Given the description of an element on the screen output the (x, y) to click on. 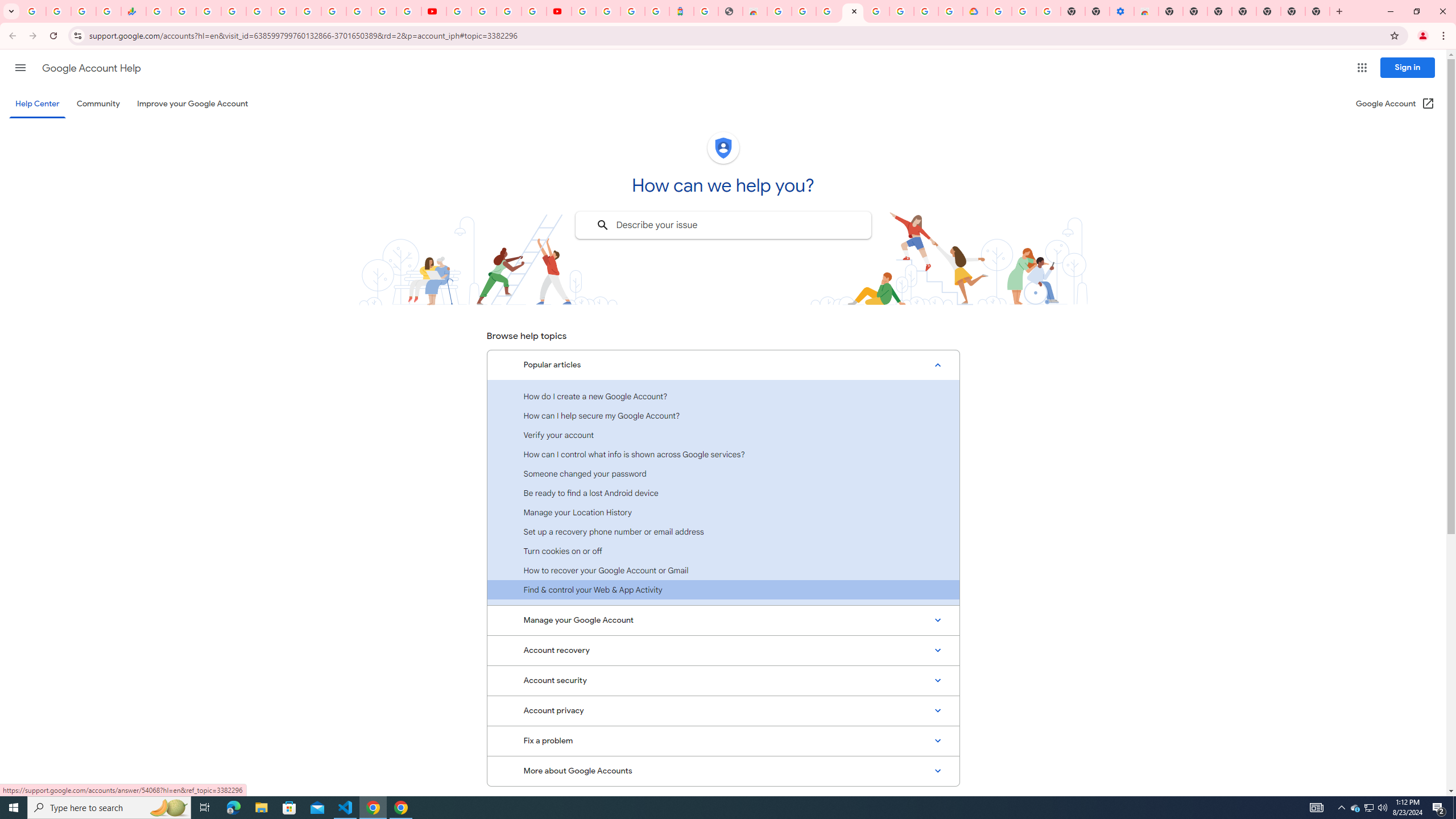
Manage your Google Account (722, 620)
YouTube (433, 11)
Settings - Accessibility (1121, 11)
Content Creator Programs & Opportunities - YouTube Creators (558, 11)
Google Account (Open in a new window) (1395, 103)
Google Account Help (483, 11)
Sign in - Google Accounts (827, 11)
YouTube (332, 11)
Be ready to find a lost Android device (722, 492)
Google Account Help (1023, 11)
